Given the description of an element on the screen output the (x, y) to click on. 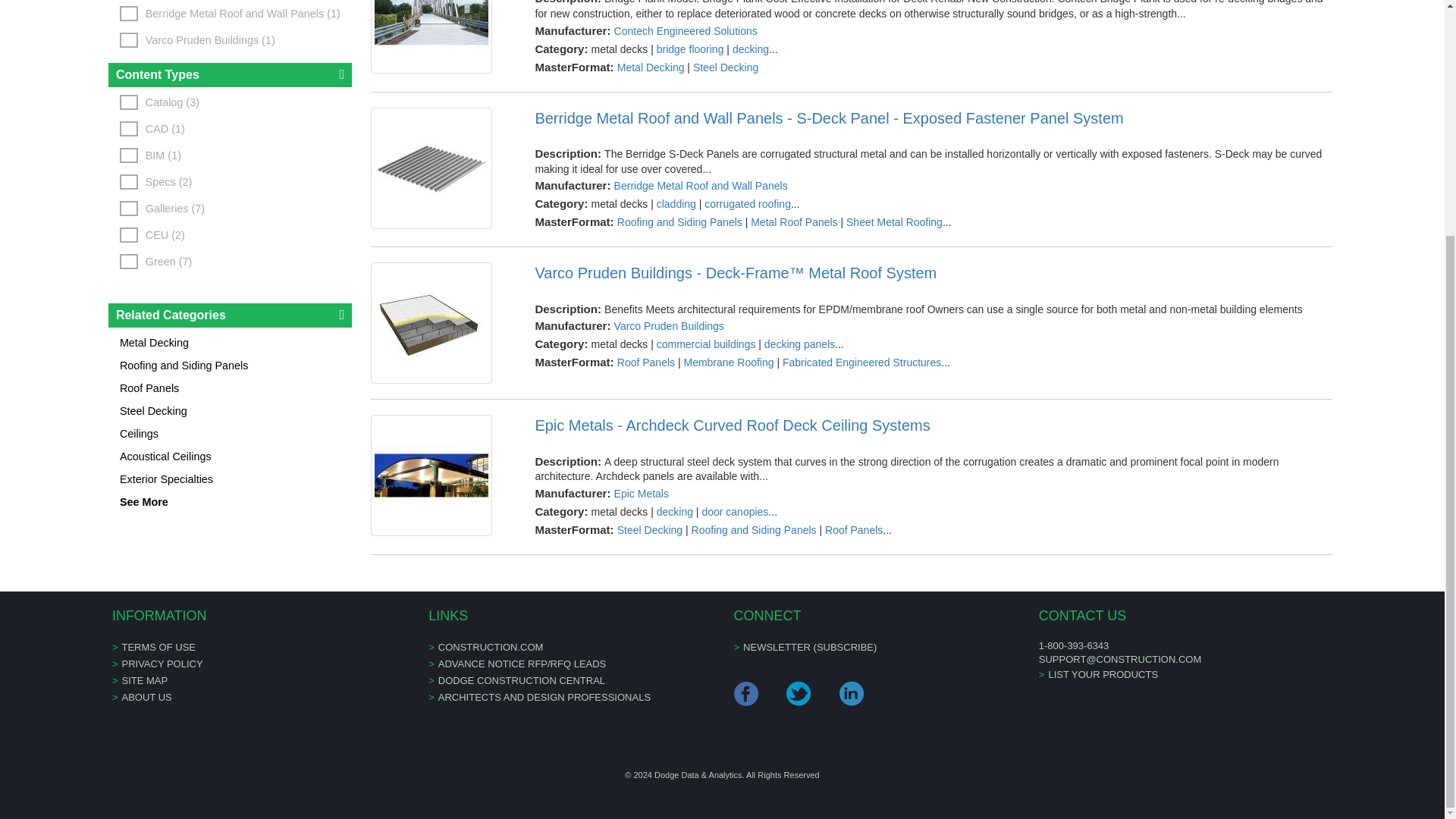
Contech Engineered Solutions - Bridge Plank (441, 36)
About Us (145, 696)
Site Map (143, 680)
Epic Metals - Archdeck Curved Roof Deck Ceiling Systems (441, 475)
Epic Metals - Archdeck Curved Roof Deck Ceiling Systems (933, 424)
construction.com (490, 646)
Dodge Construction Central (521, 680)
IMS (522, 663)
Terms of Use (157, 646)
Privacy Policy (161, 663)
